Given the description of an element on the screen output the (x, y) to click on. 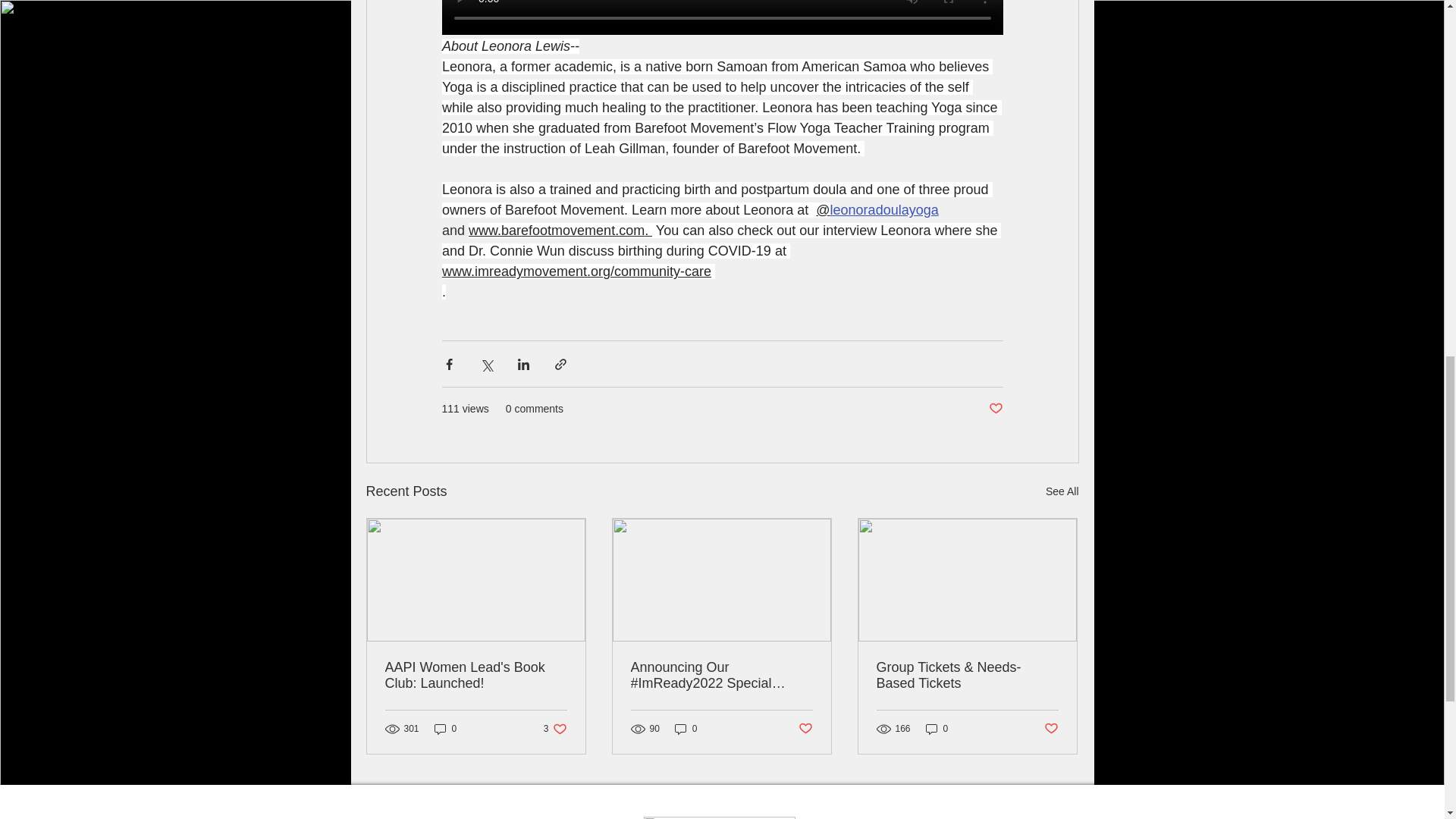
www.barefootmovement.com (556, 230)
See All (1061, 491)
leonoradoulayoga (883, 209)
Post not marked as liked (995, 408)
